Given the description of an element on the screen output the (x, y) to click on. 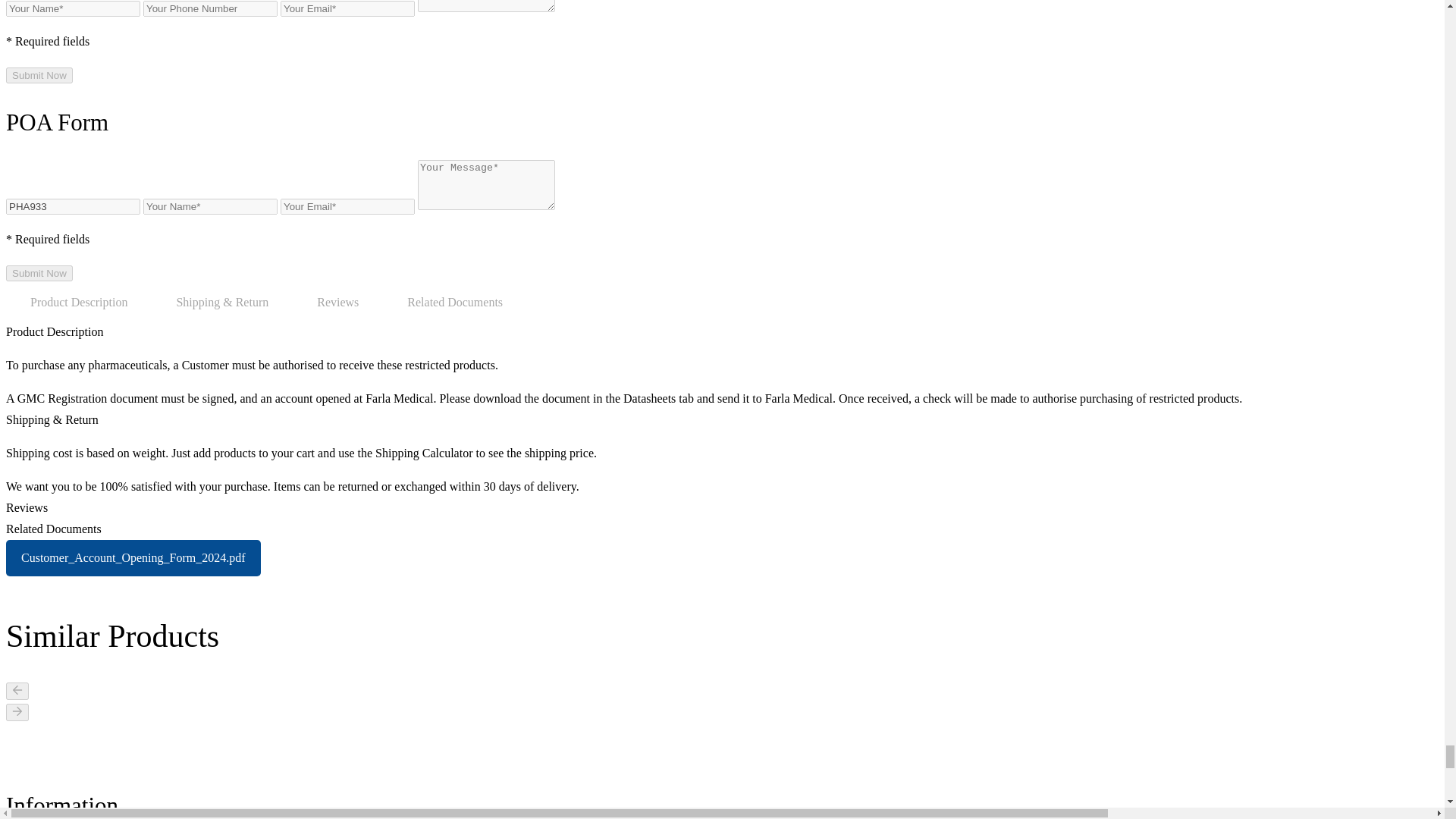
PHA933 (72, 206)
